Given the description of an element on the screen output the (x, y) to click on. 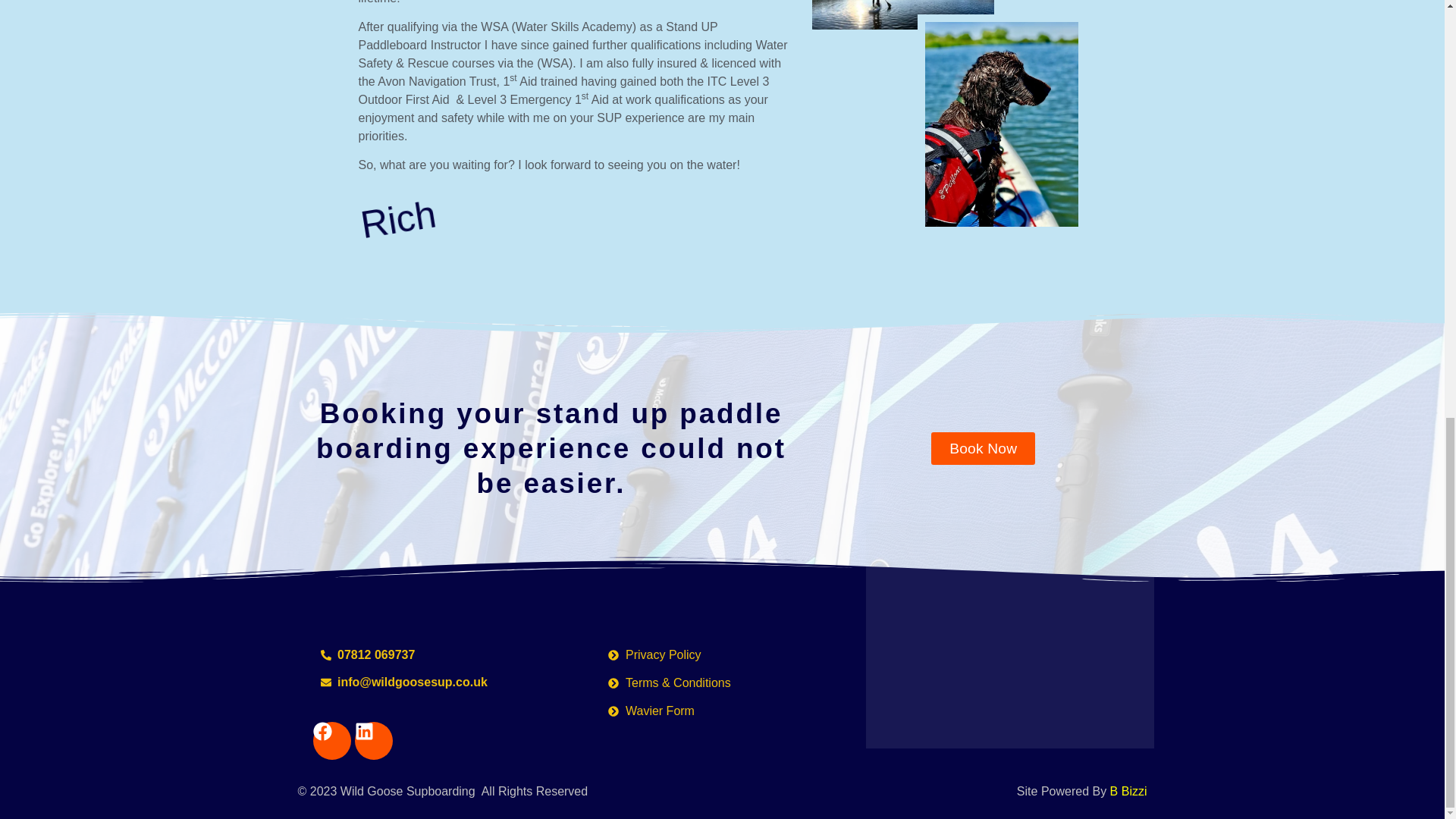
Privacy Policy (721, 655)
Book Now (983, 448)
07812 069737 (433, 655)
Wavier Form (721, 710)
B Bizzi (1128, 790)
